Given the description of an element on the screen output the (x, y) to click on. 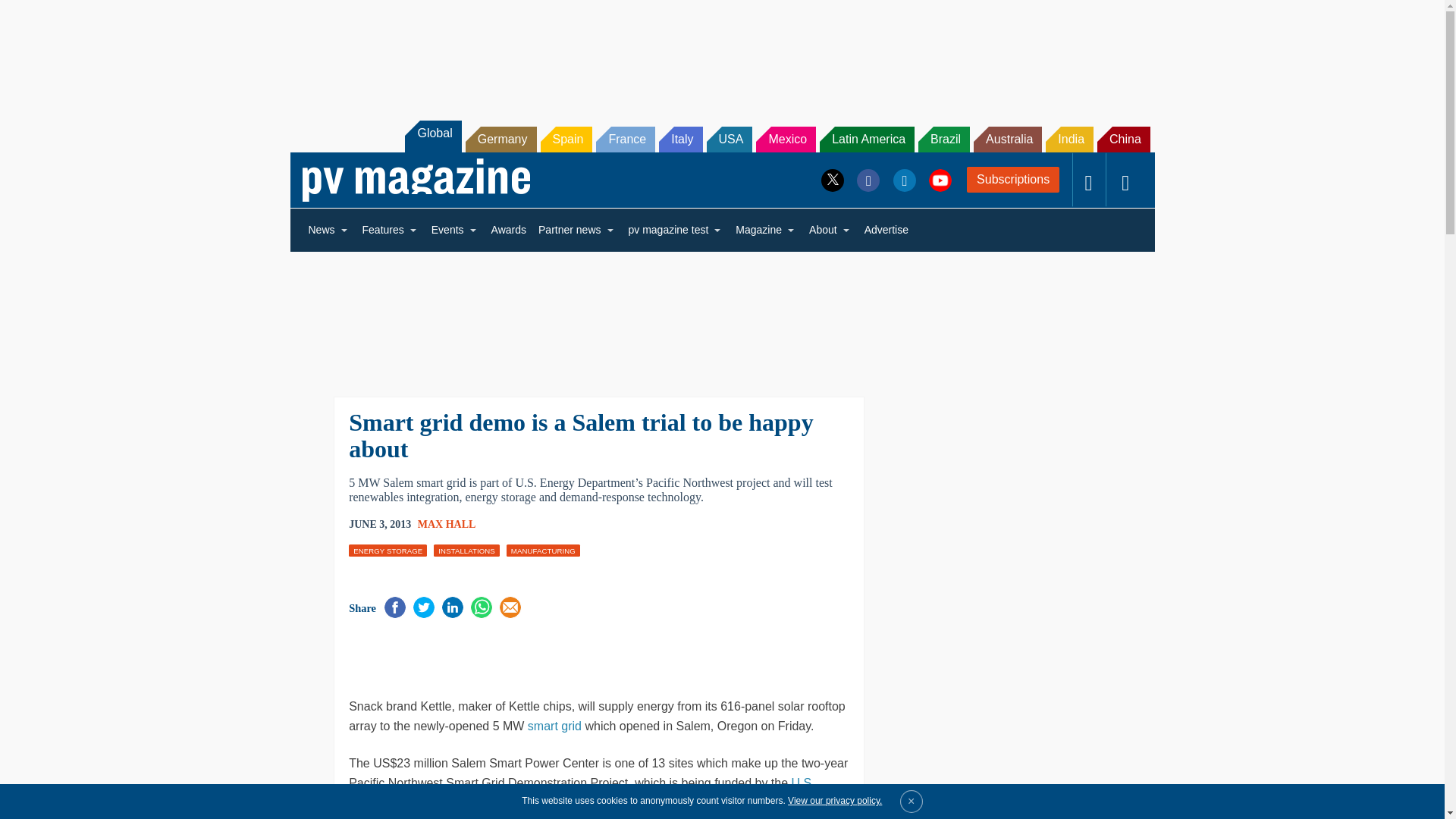
pv magazine - Photovoltaics Markets and Technology (415, 179)
3rd party ad content (721, 51)
Italy (680, 139)
Subscriptions (1012, 179)
Australia (1008, 139)
Monday, June 3, 2013, 12:00 am (379, 524)
pv magazine - Photovoltaics Markets and Technology (415, 180)
Global (432, 136)
India (1069, 139)
Search (32, 15)
France (625, 139)
Latin America (866, 139)
3rd party ad content (526, 655)
China (1123, 139)
Germany (501, 139)
